Given the description of an element on the screen output the (x, y) to click on. 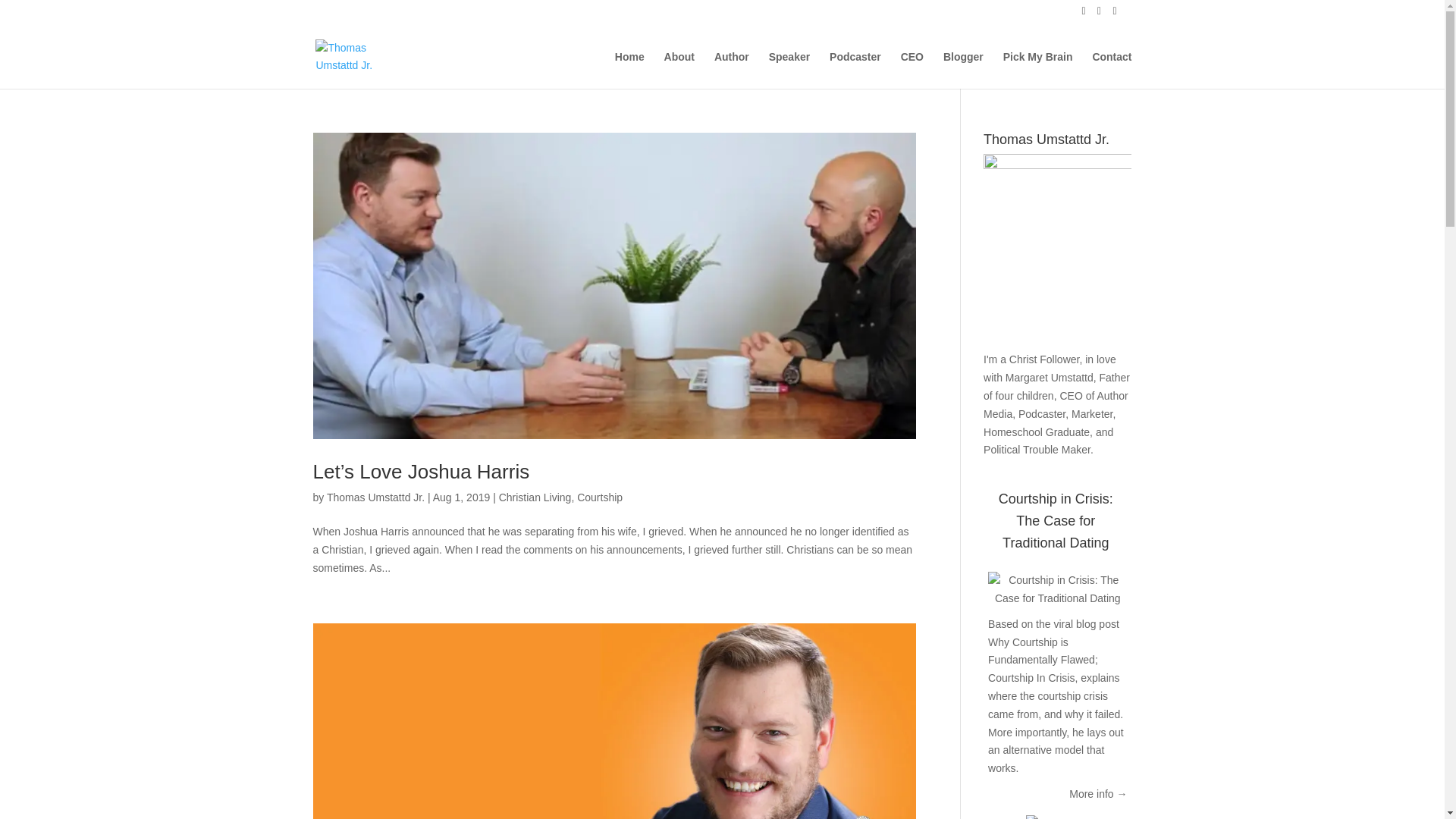
Blogger (963, 69)
Author (731, 69)
Pick My Brain (1038, 69)
Contact (1111, 69)
Posts by Thomas Umstattd Jr. (375, 497)
Podcaster (854, 69)
Courtship (599, 497)
Thomas Umstattd Jr. (375, 497)
Speaker (788, 69)
Christian Living (535, 497)
